Given the description of an element on the screen output the (x, y) to click on. 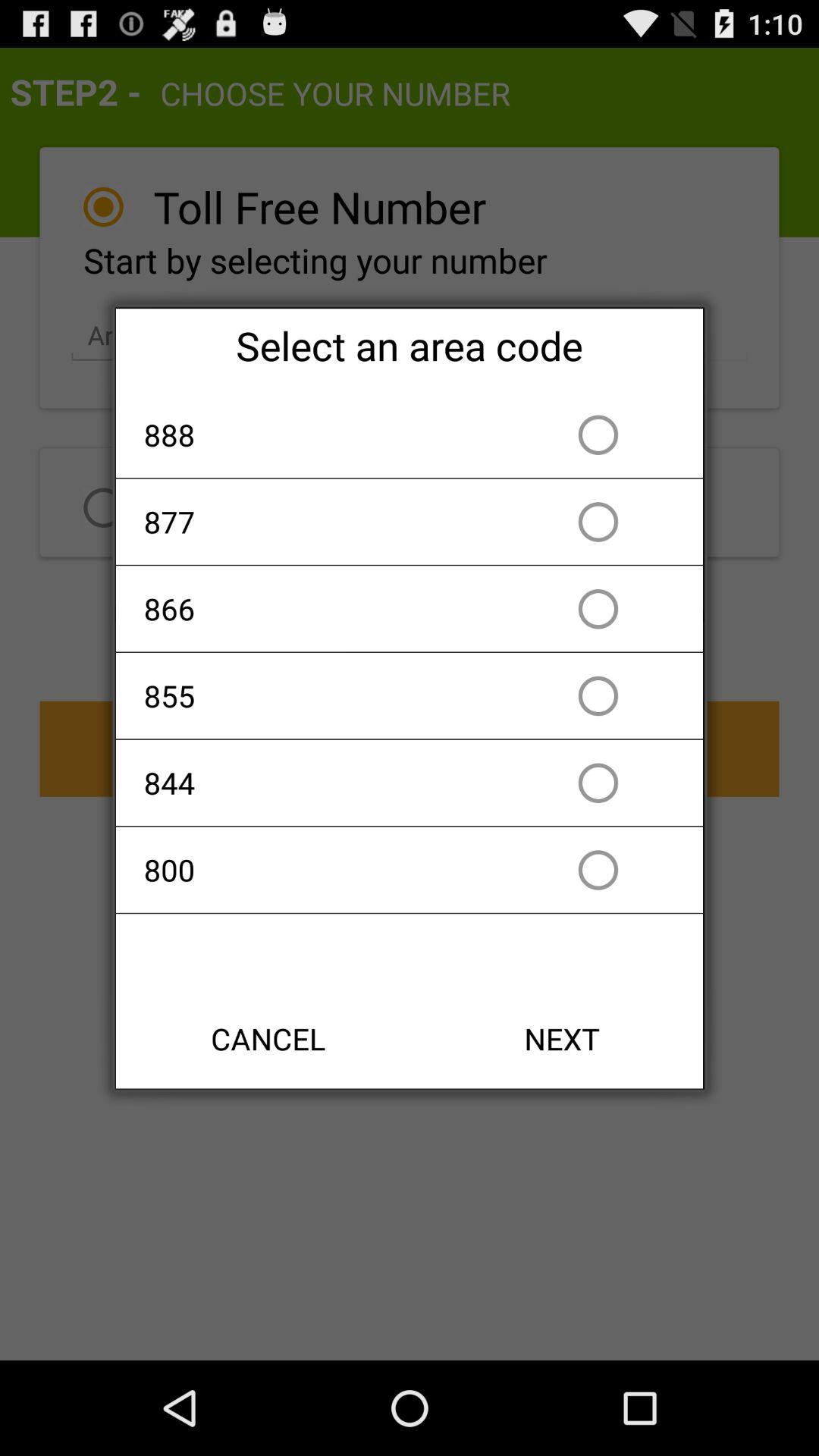
choose button to the left of the next (268, 1038)
